Given the description of an element on the screen output the (x, y) to click on. 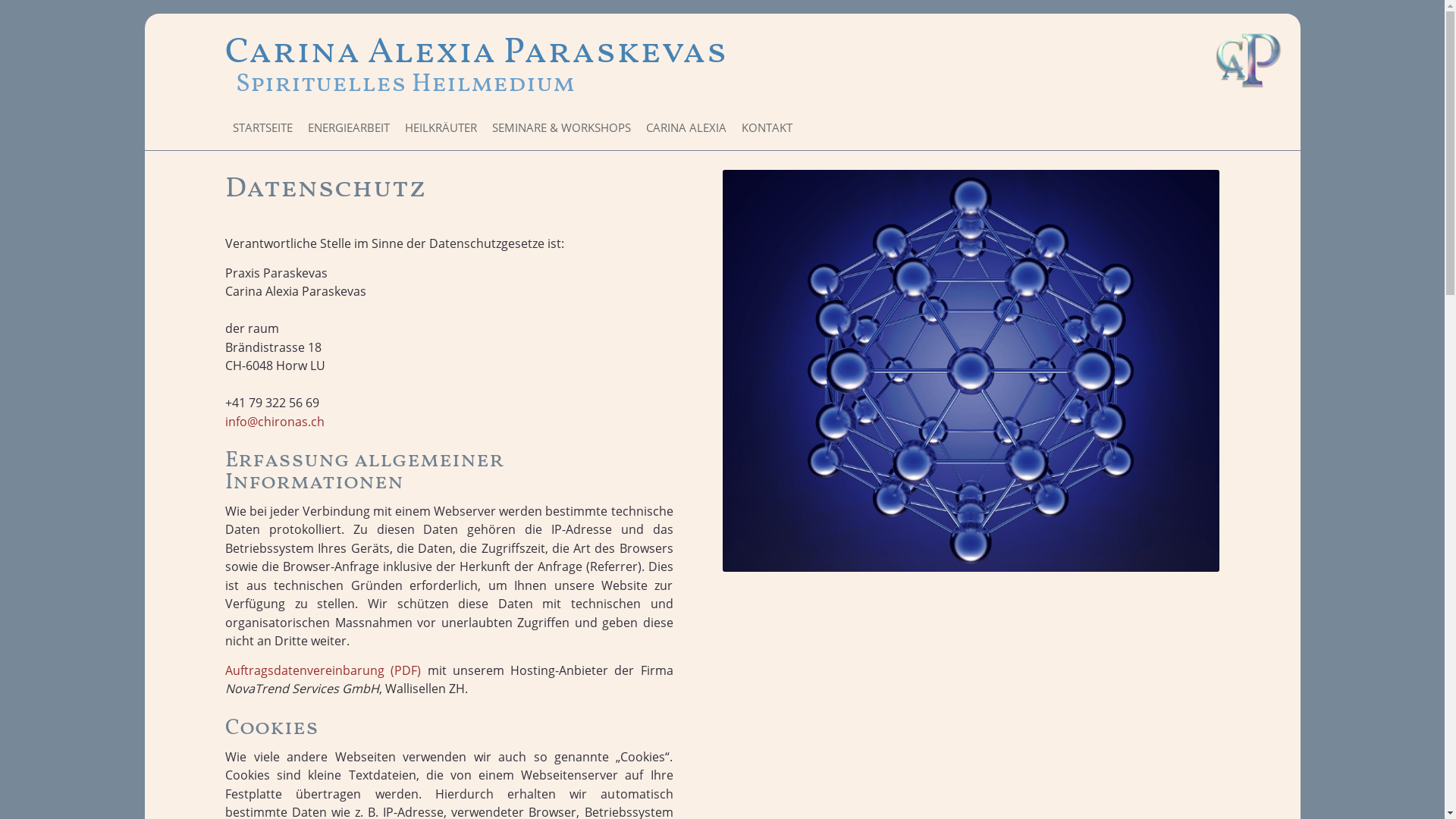
CARINA ALEXIA Element type: text (686, 128)
KONTAKT Element type: text (763, 128)
info@chironas.ch Element type: text (274, 421)
SEMINARE & WORKSHOPS Element type: text (561, 128)
ENERGIEARBEIT Element type: text (348, 128)
STARTSEITE Element type: text (262, 128)
Auftragsdatenvereinbarung (PDF) Element type: text (322, 670)
